Given the description of an element on the screen output the (x, y) to click on. 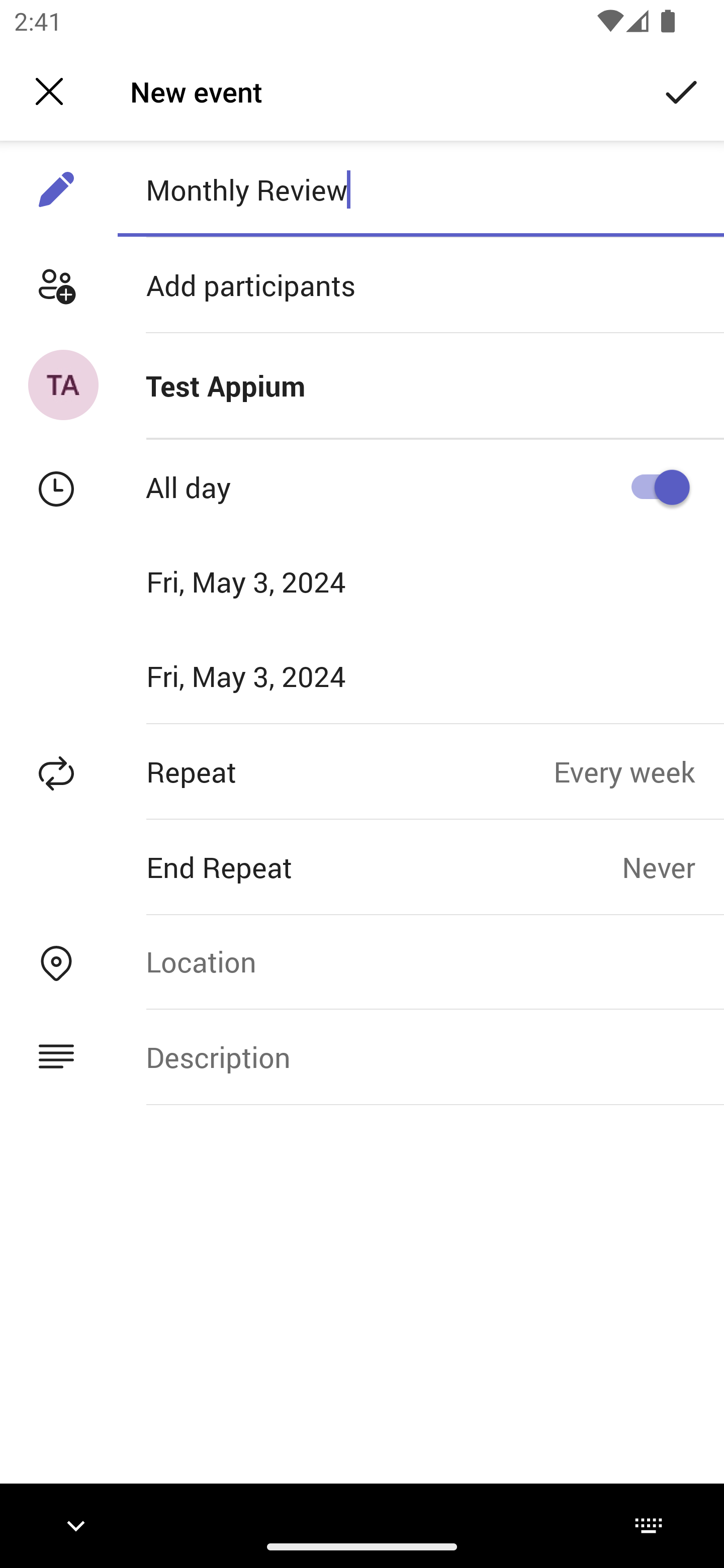
Back (49, 91)
Send invite (681, 90)
Monthly Review (420, 189)
Add participants Add participants option (362, 285)
All day (654, 486)
Fri, May 3, 2024 Starts Friday May 03, 2024 (288, 581)
Fri, May 3, 2024 Ends Friday May 03, 2024 (288, 675)
Repeat (276, 771)
Every week Repeat Every week (638, 771)
End Repeat (310, 867)
Never End repeat Never (672, 867)
Location (420, 961)
Description (420, 1056)
